Given the description of an element on the screen output the (x, y) to click on. 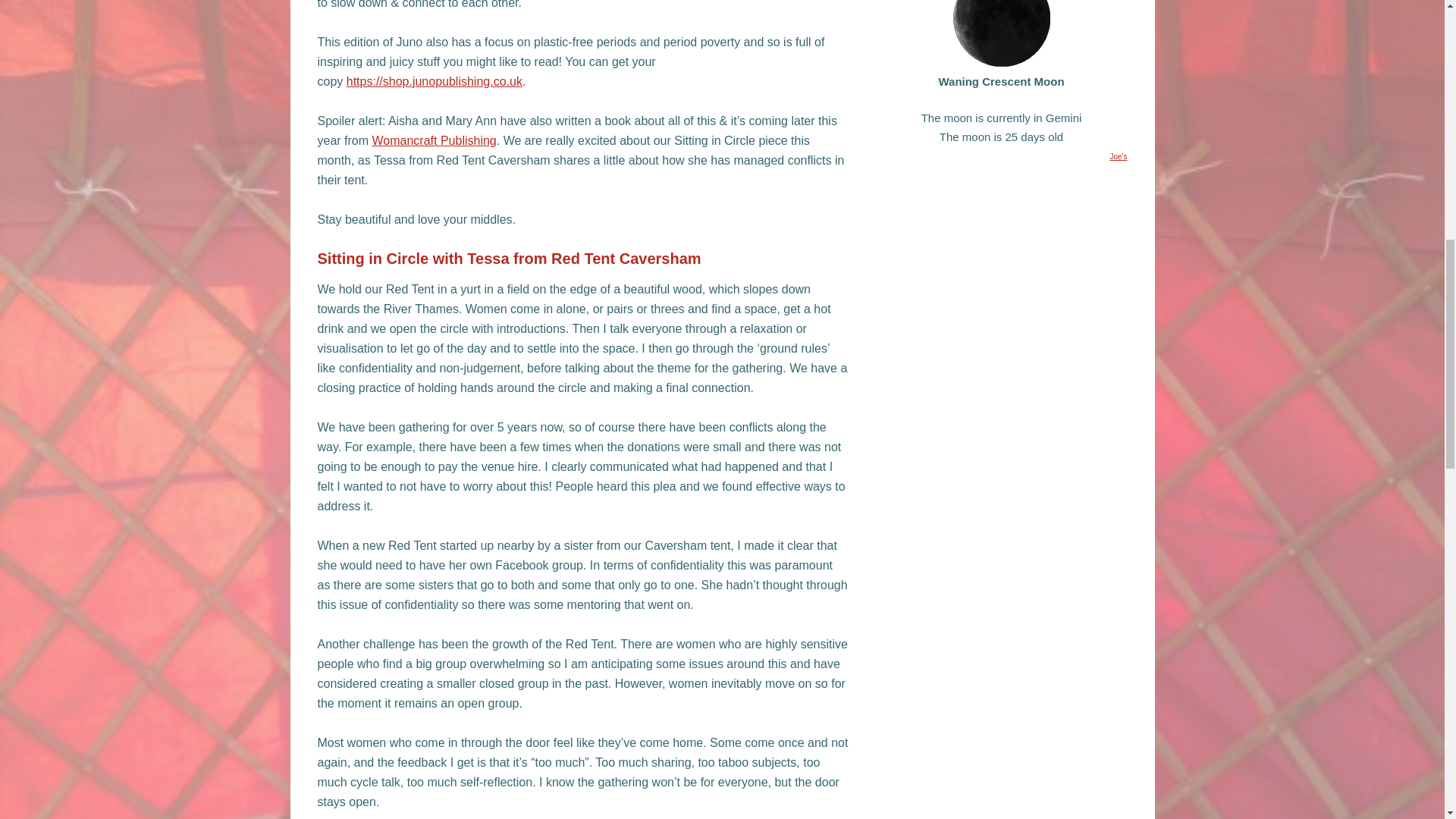
Joe's (1117, 156)
Womancraft Publishing (434, 139)
Waning Crescent Moon (1000, 33)
